Given the description of an element on the screen output the (x, y) to click on. 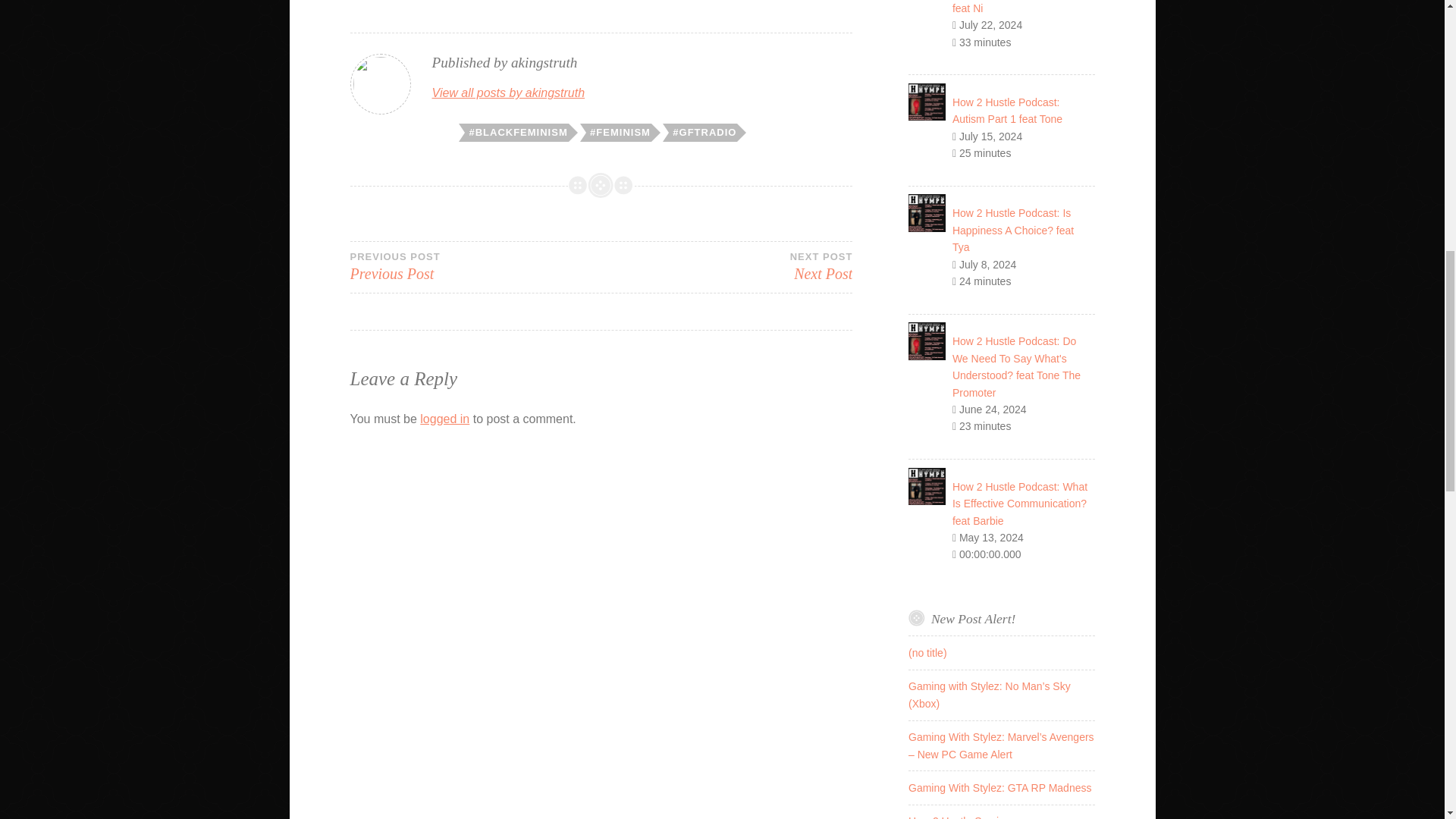
How 2 Hustle Podcast: Is Happiness A Choice? feat Tya (475, 265)
View all posts by akingstruth (1013, 230)
How 2 Hustle Podcast: Autism Part 1 feat Tone (508, 93)
logged in (1007, 110)
